Given the description of an element on the screen output the (x, y) to click on. 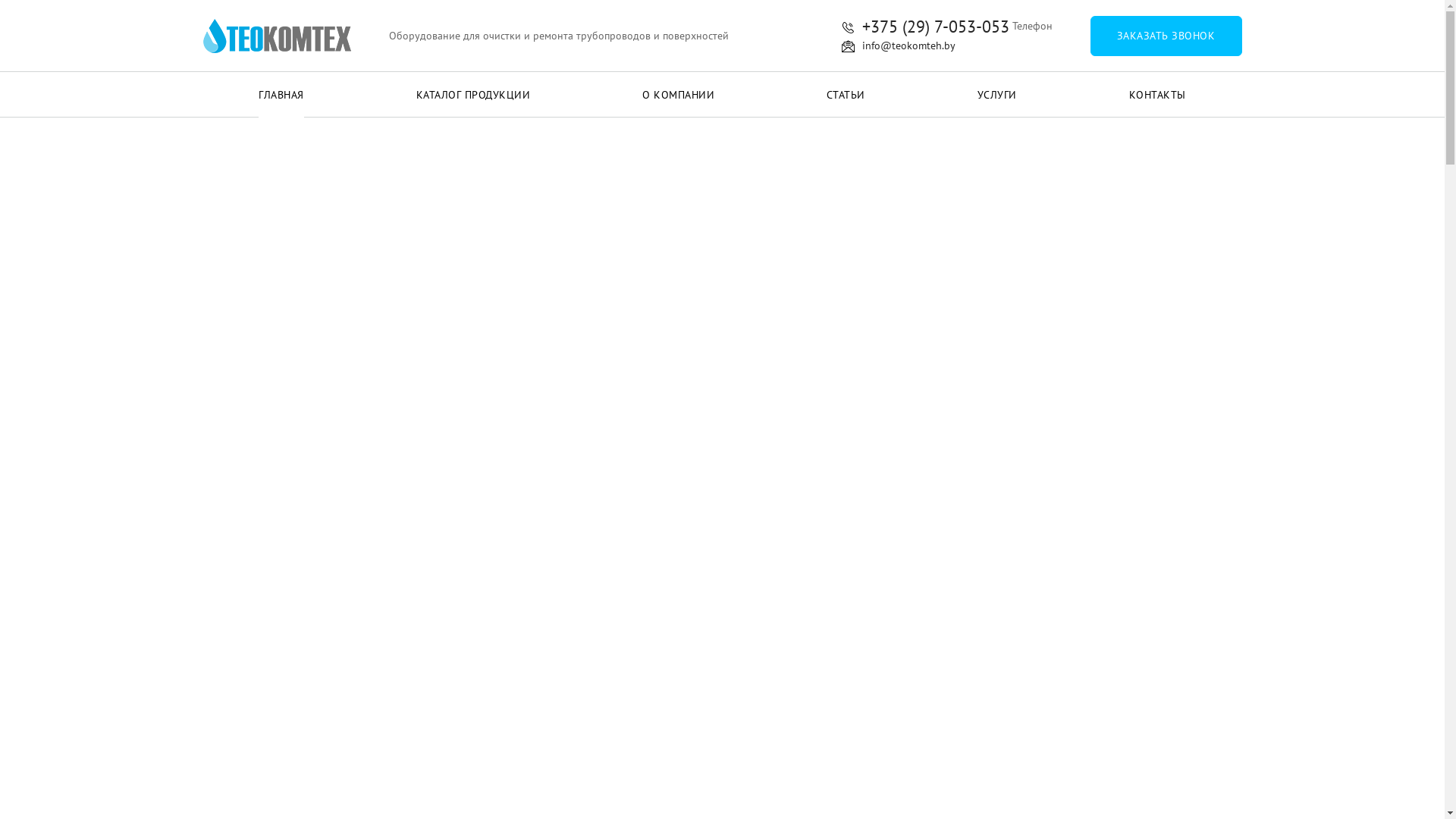
info@teokomteh.by Element type: text (898, 45)
+375 (29) 7-053-053 Element type: text (925, 27)
